Given the description of an element on the screen output the (x, y) to click on. 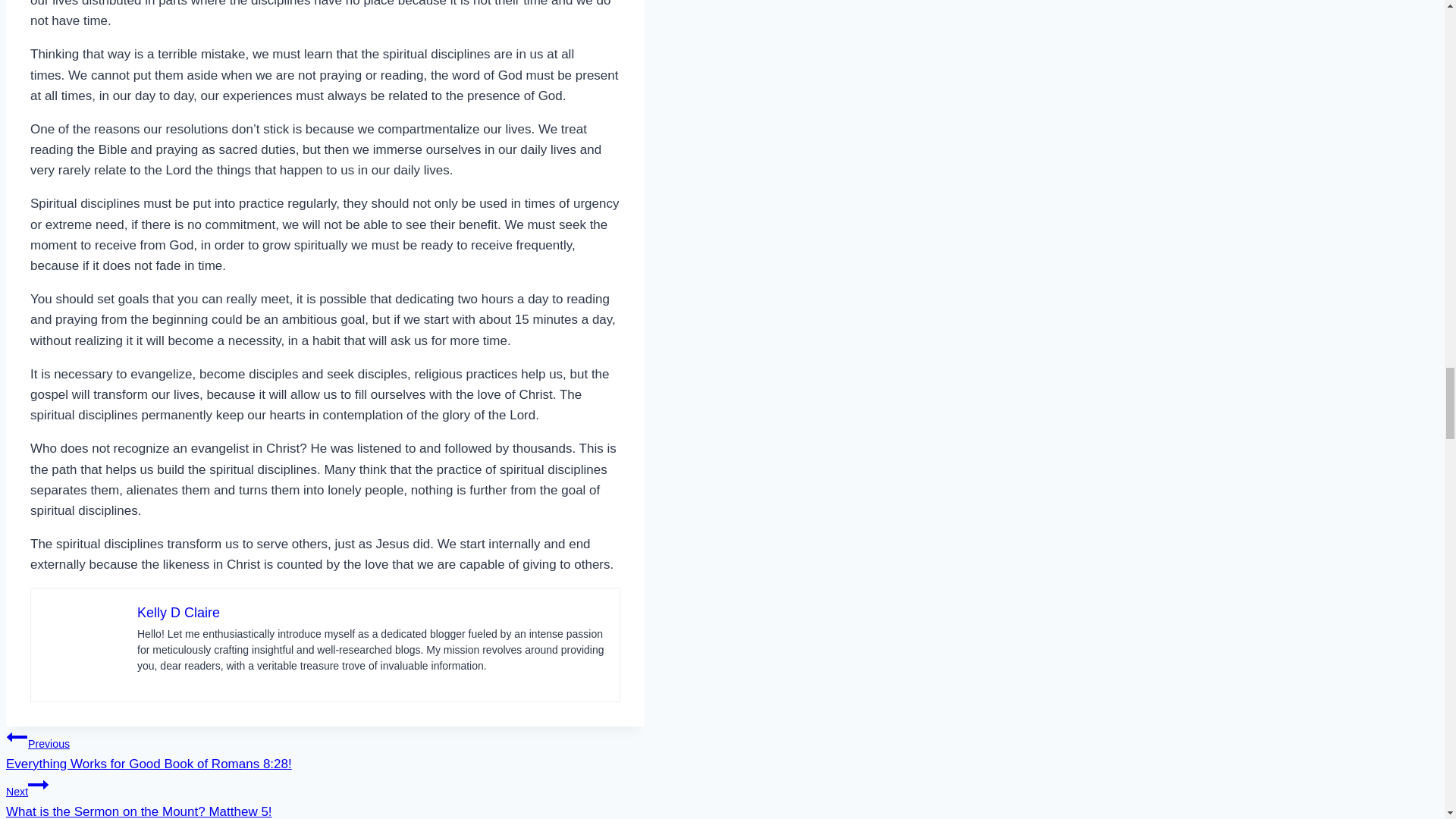
Continue (37, 784)
Previous (325, 796)
Kelly D Claire (16, 736)
